Given the description of an element on the screen output the (x, y) to click on. 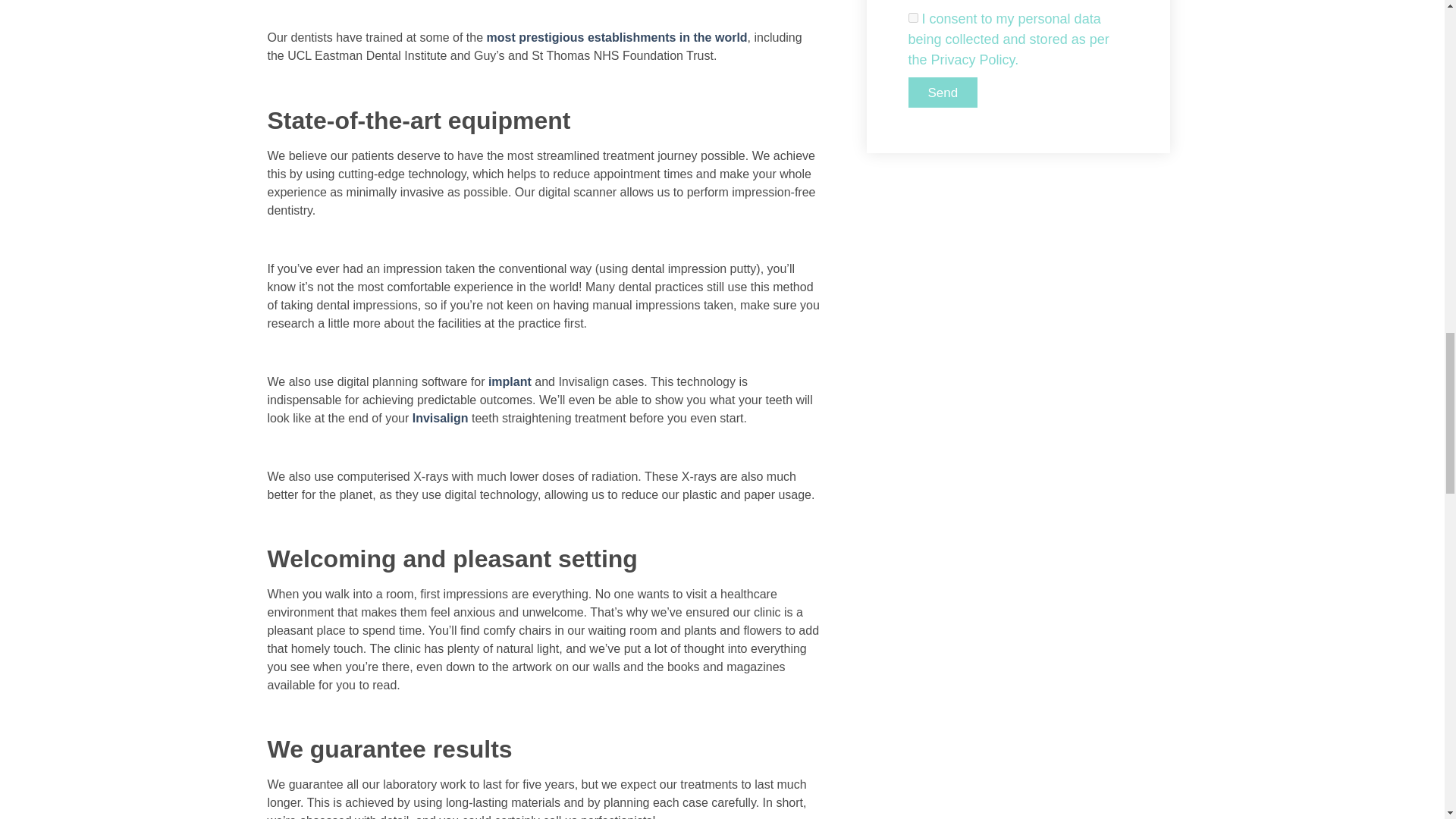
Send (943, 91)
most prestigious establishments in the world (617, 37)
on (913, 17)
implant (509, 381)
Invisalign (440, 418)
